Given the description of an element on the screen output the (x, y) to click on. 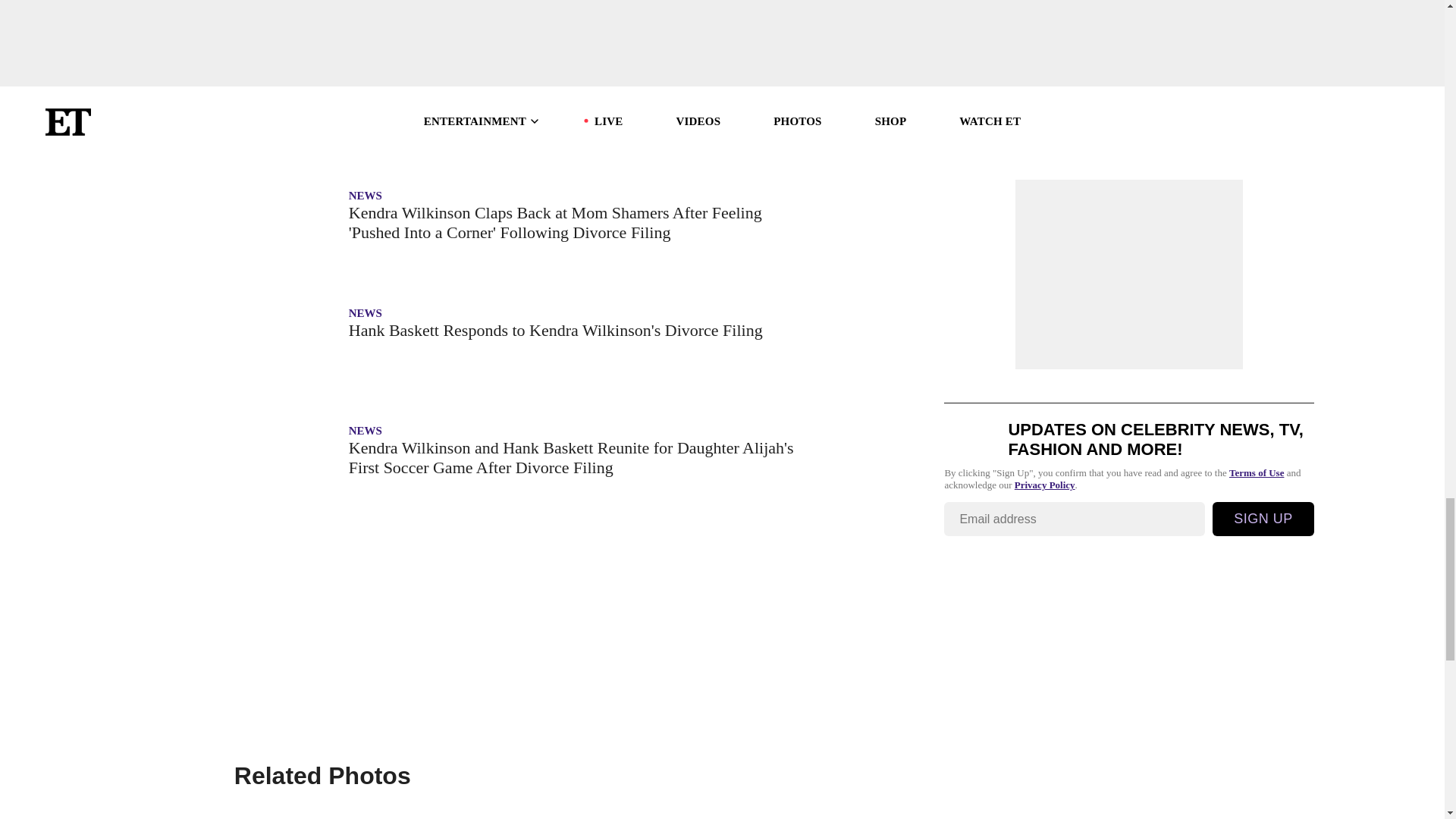
95 Photos (519, 810)
Kendra Wilkinson Files for Divorce From Hank Baskett (519, 96)
